Given the description of an element on the screen output the (x, y) to click on. 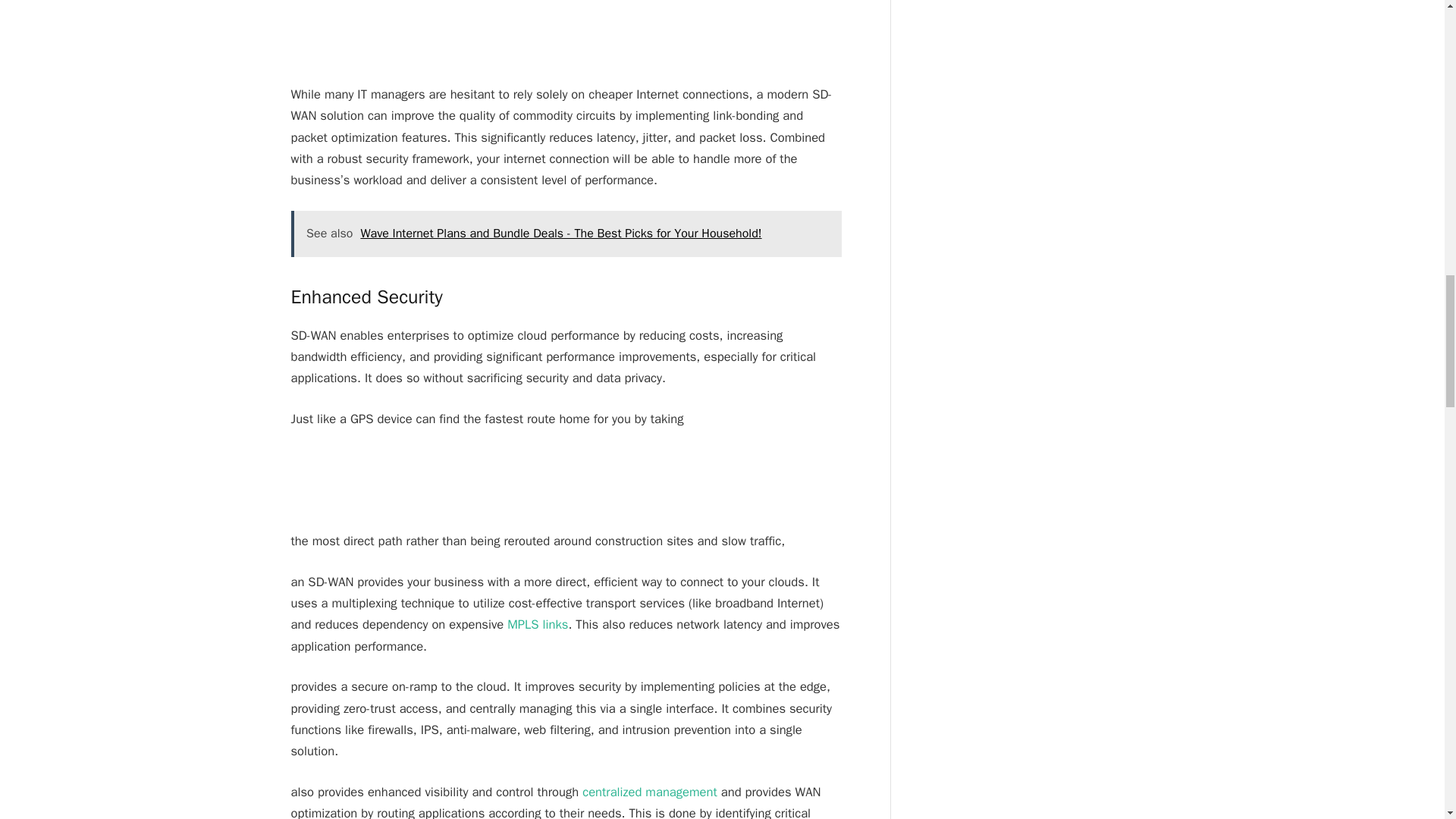
MPLS links (536, 624)
centralized management (651, 791)
